Given the description of an element on the screen output the (x, y) to click on. 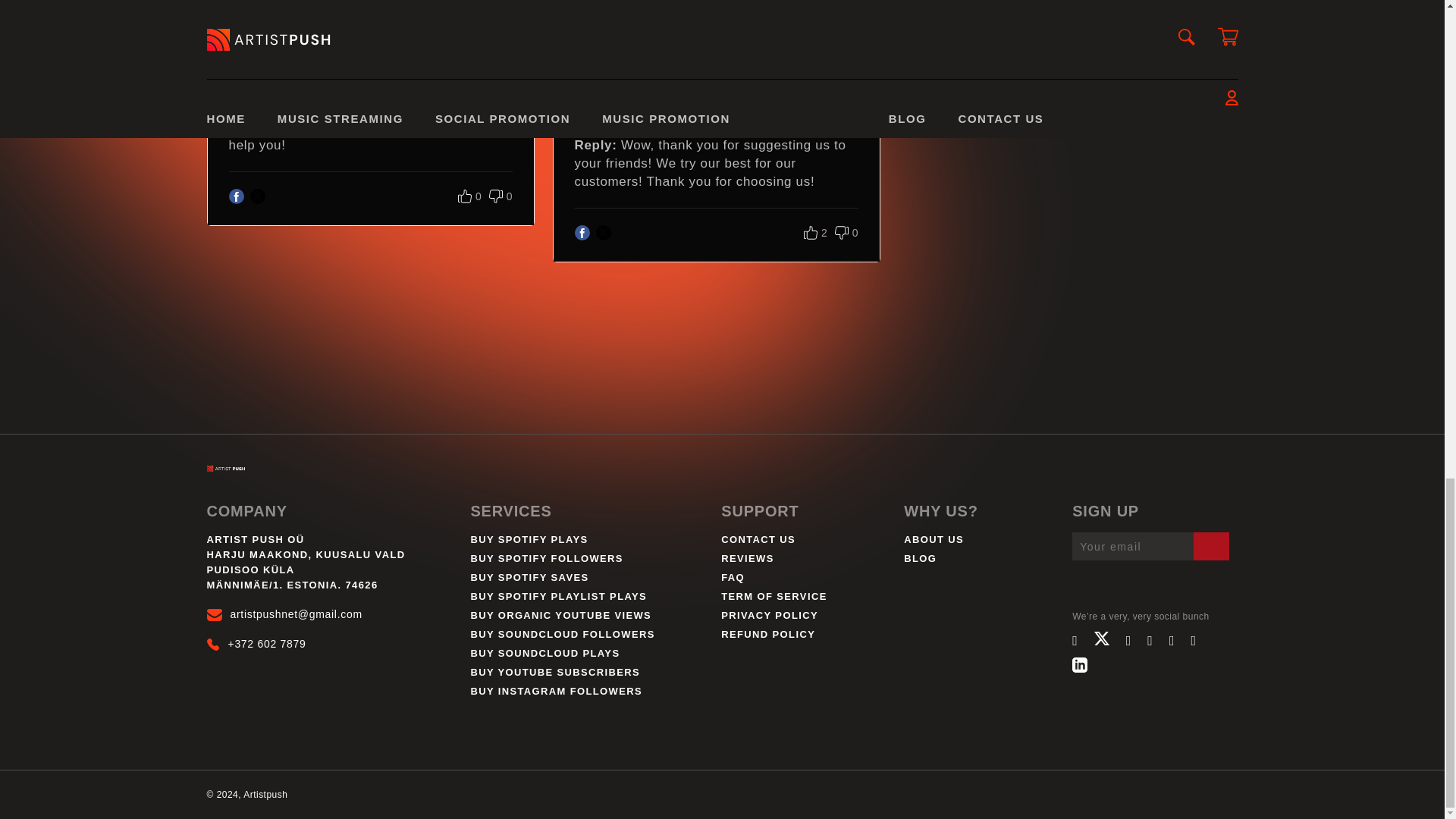
Artist Push on Linkedin (1079, 667)
Artist Push on Twitter (1101, 641)
